Given the description of an element on the screen output the (x, y) to click on. 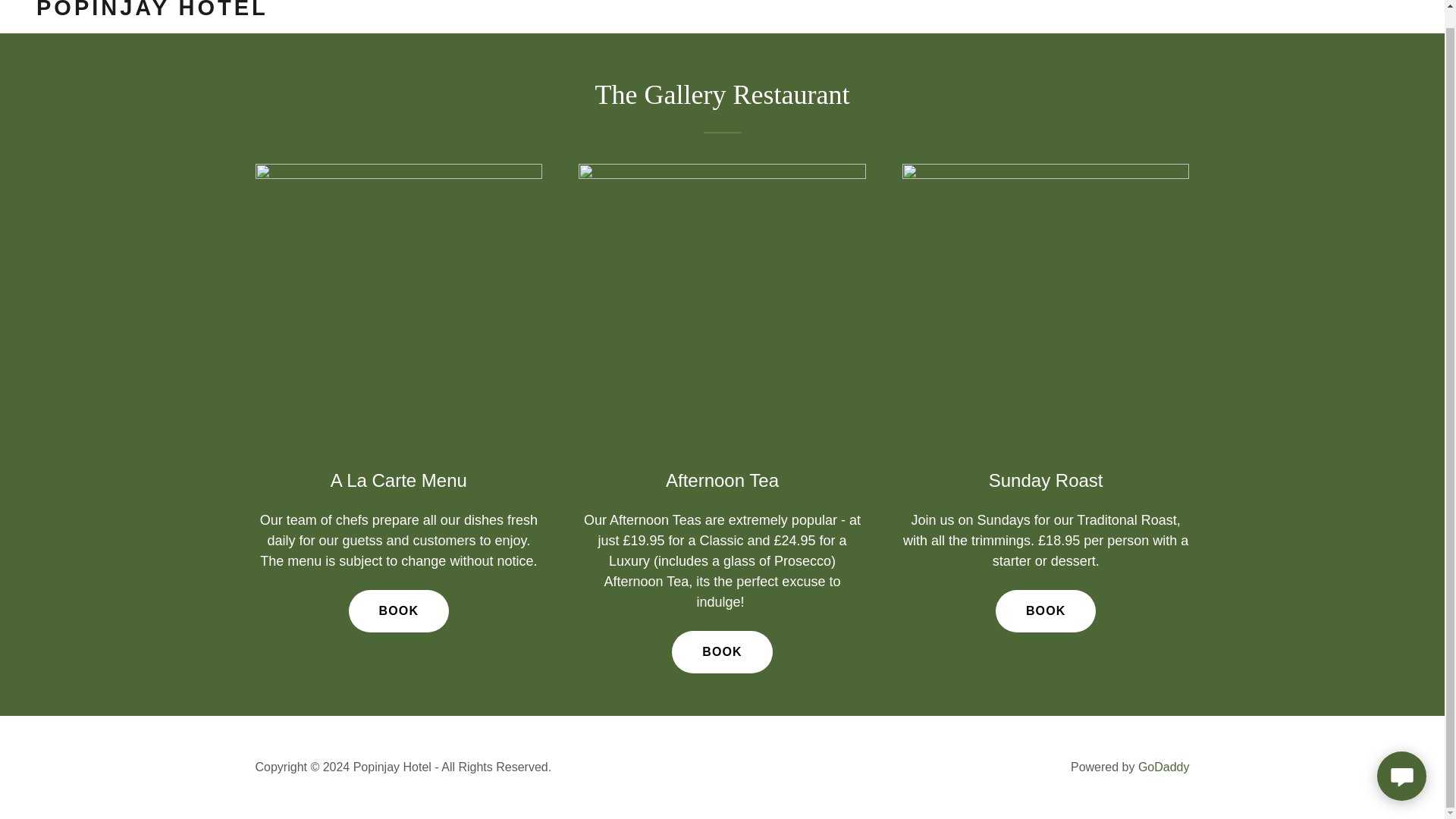
BOOK (1045, 610)
Popinjay Hotel (276, 10)
GoDaddy (1163, 766)
BOOK (722, 651)
POPINJAY HOTEL (276, 10)
BOOK (399, 610)
